Given the description of an element on the screen output the (x, y) to click on. 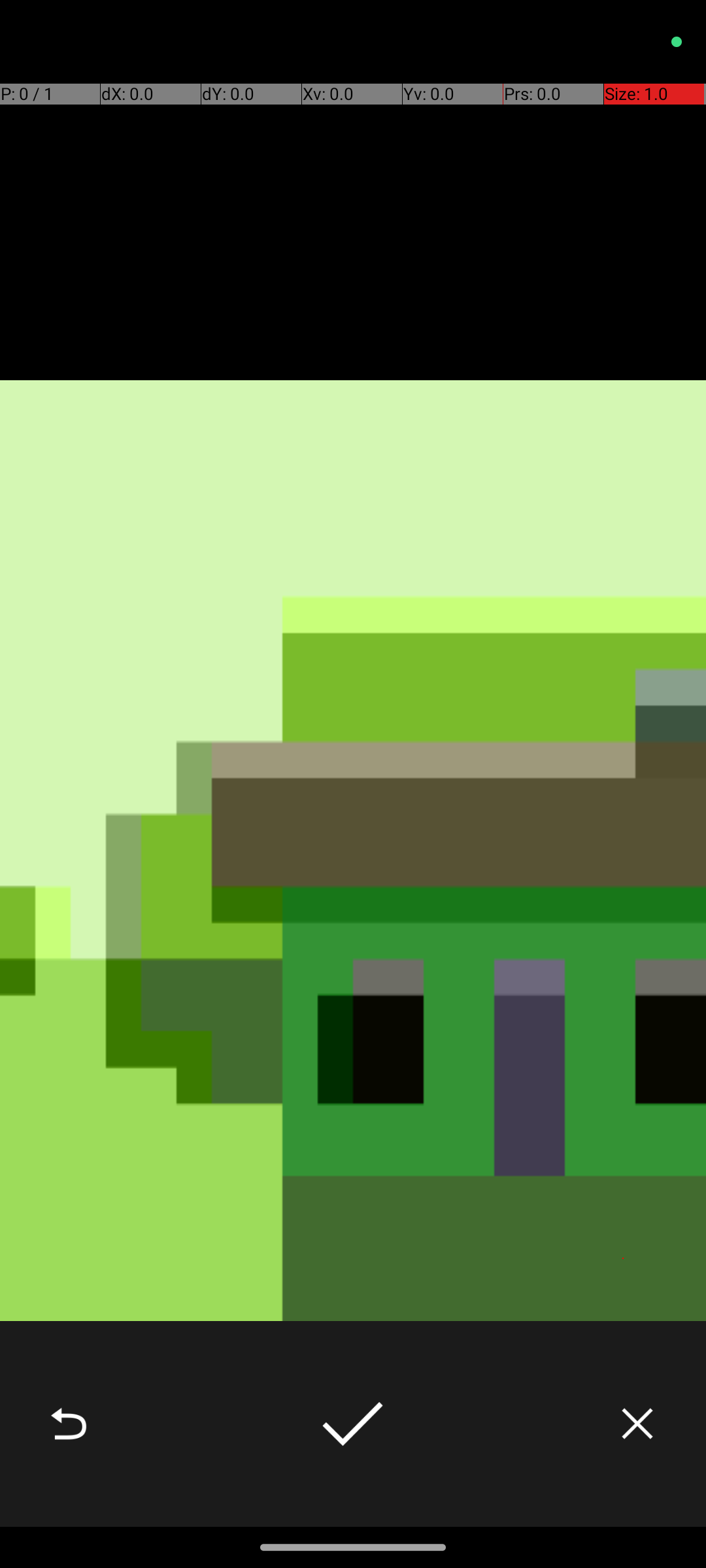
Retake Element type: android.widget.ImageButton (68, 1423)
